Given the description of an element on the screen output the (x, y) to click on. 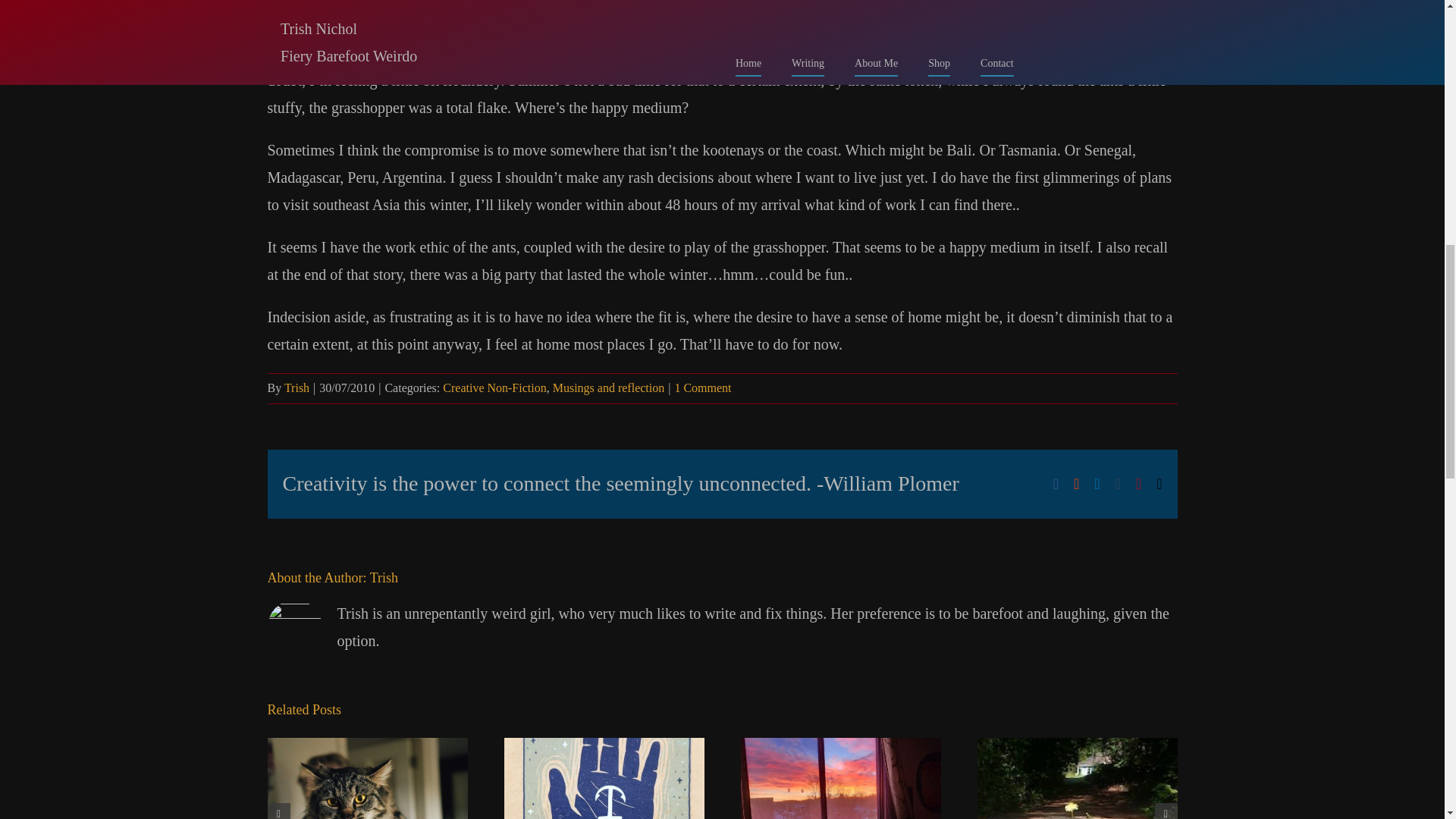
Creative Non-Fiction (494, 387)
Trish (383, 577)
1 Comment (702, 387)
Posts by Trish (383, 577)
sharks that can fly (1045, 10)
Musings and reflection (609, 387)
Trish (295, 387)
Posts by Trish (295, 387)
zombies can swim (733, 10)
